Given the description of an element on the screen output the (x, y) to click on. 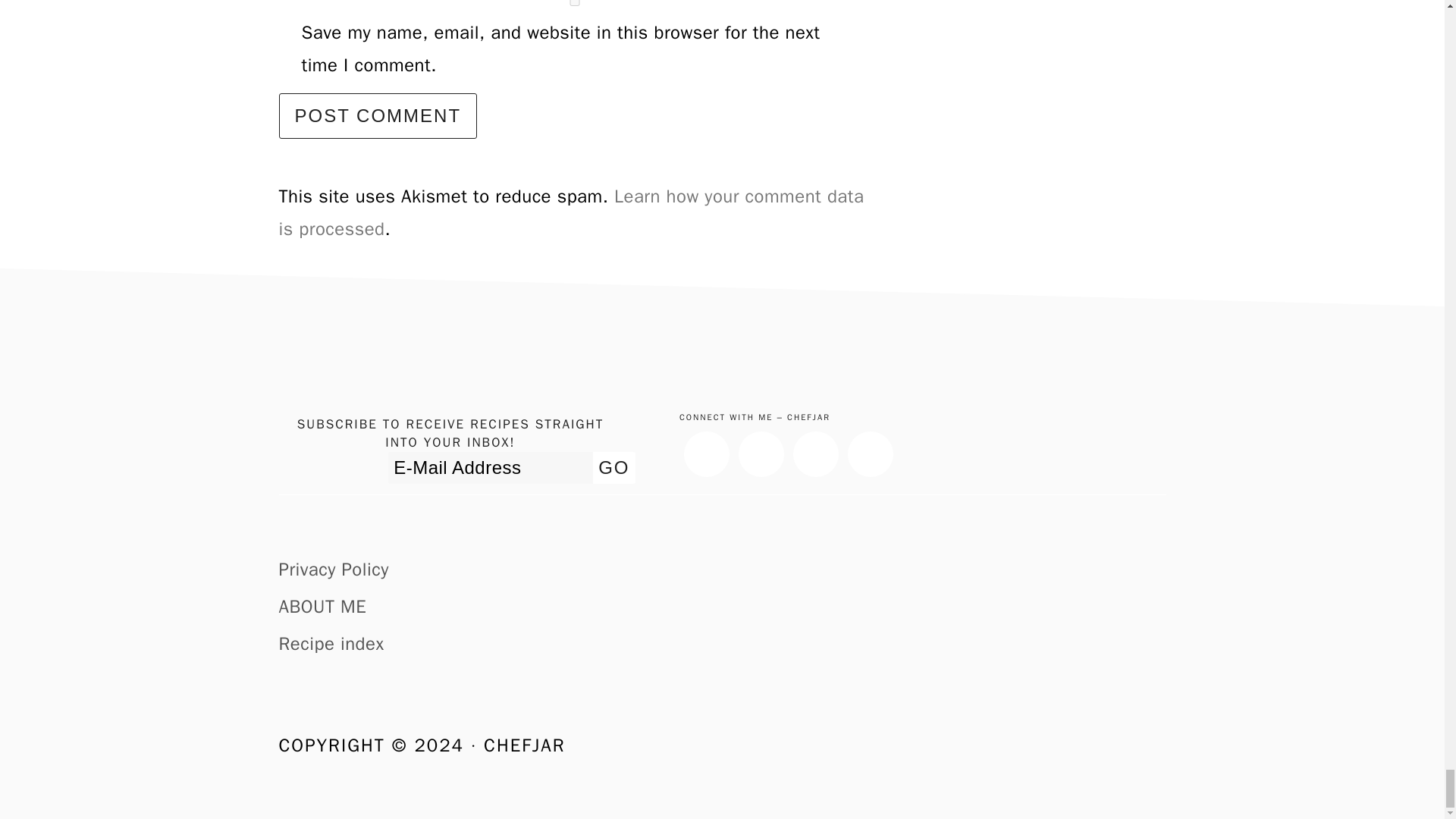
Post Comment (378, 115)
Post Comment (378, 115)
Go (613, 468)
